Given the description of an element on the screen output the (x, y) to click on. 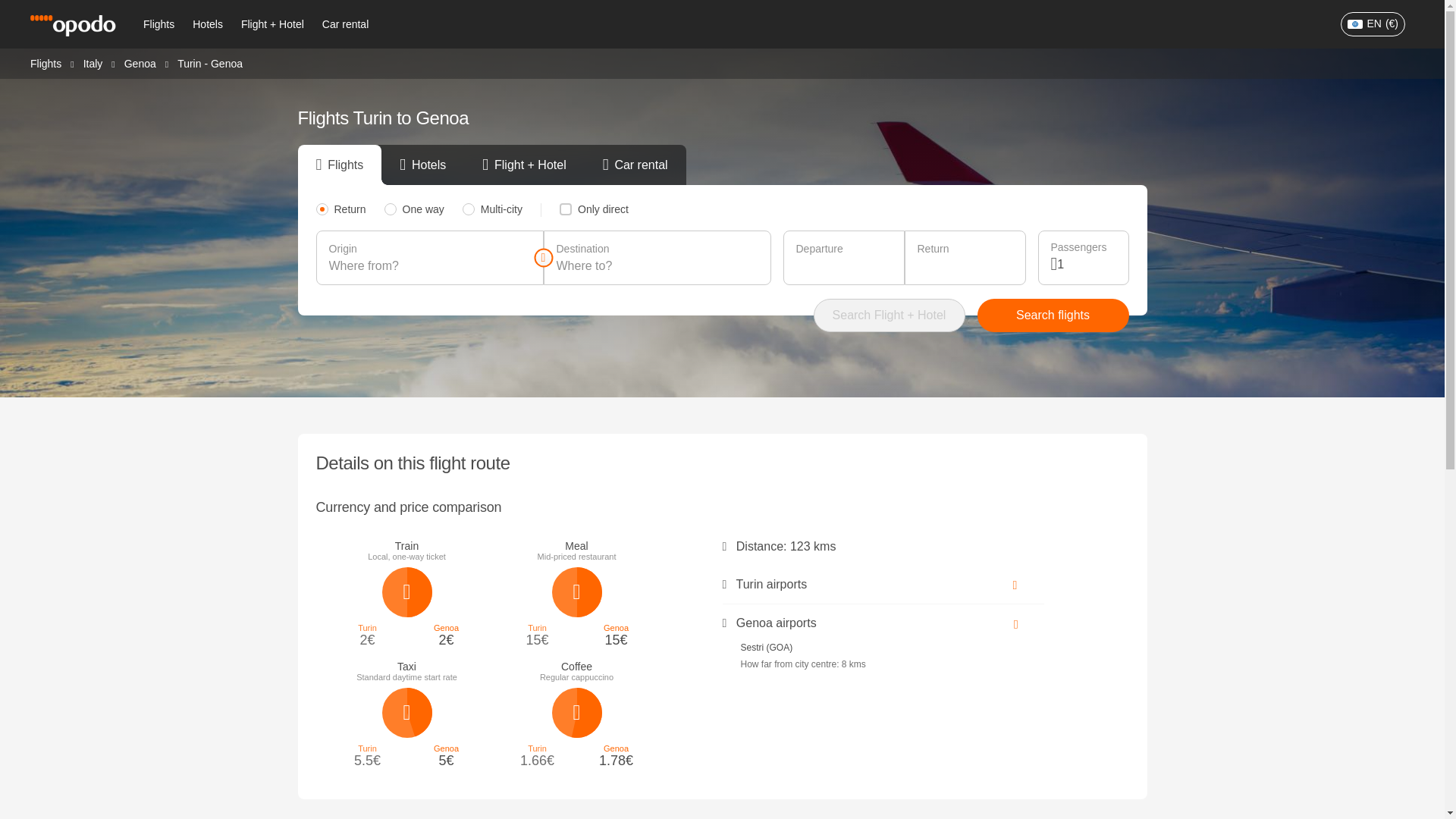
Flights (158, 24)
Hotels (207, 24)
1 (1086, 263)
Search flights (1052, 315)
Car rental (345, 24)
Flights (45, 62)
Genoa (139, 62)
Turin - Genoa (210, 63)
Italy (92, 62)
